Given the description of an element on the screen output the (x, y) to click on. 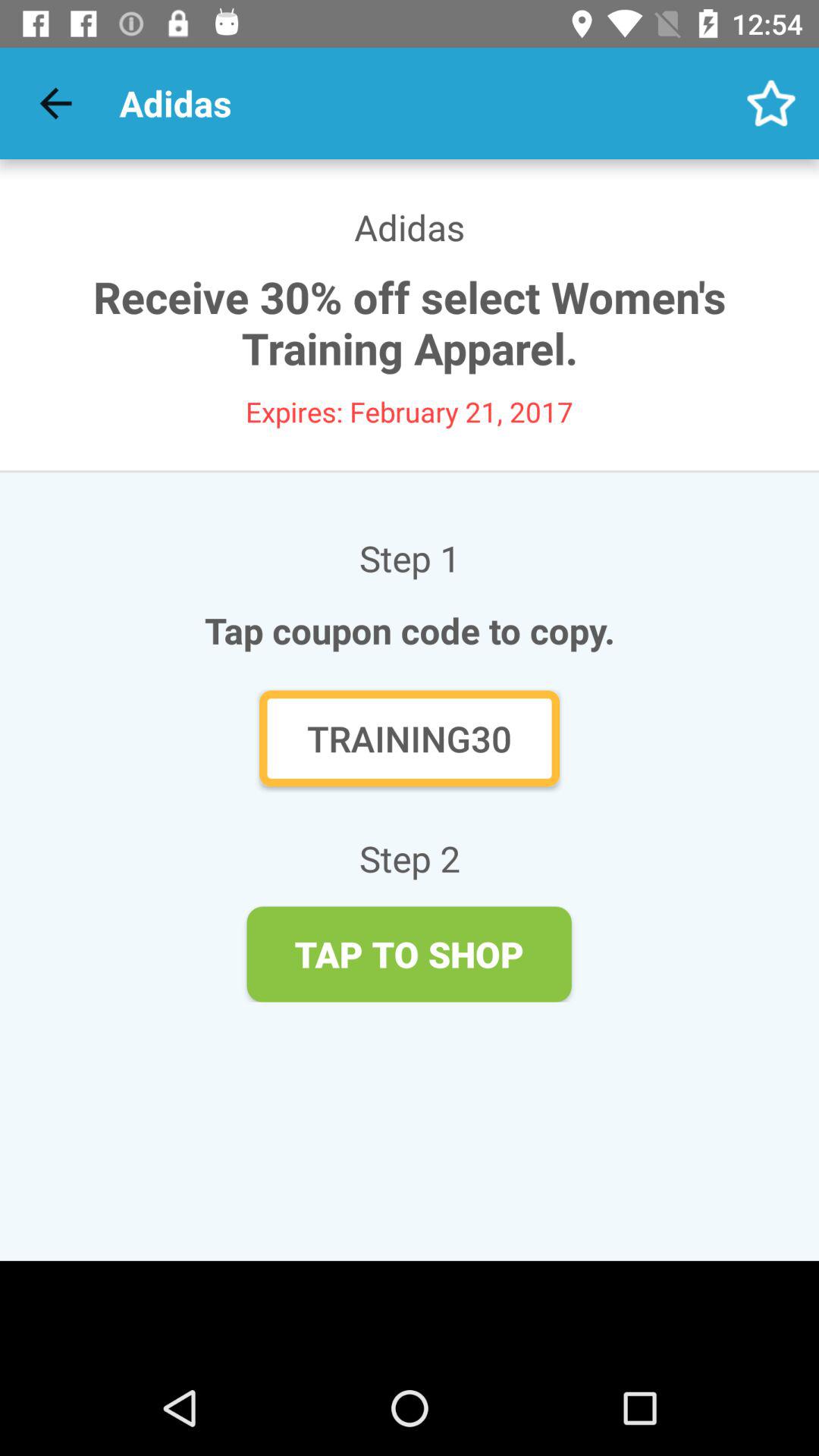
turn on icon next to adidas item (55, 103)
